Given the description of an element on the screen output the (x, y) to click on. 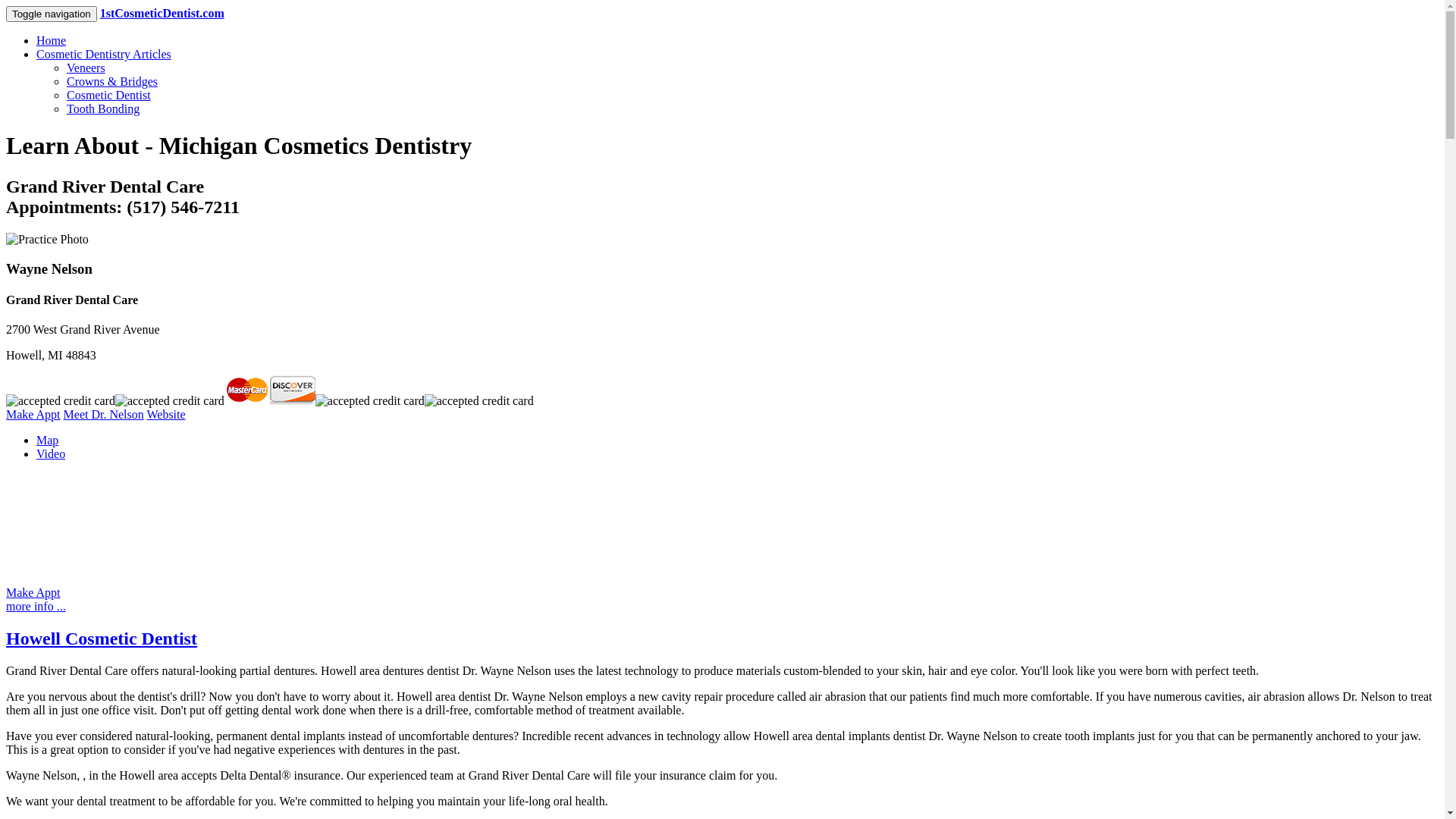
Make Appt Element type: text (33, 413)
Cosmetic Dentistry Articles Element type: text (103, 53)
my title Element type: hover (246, 389)
Toggle navigation Element type: text (51, 13)
Veneers Element type: text (85, 67)
Howell Cosmetic Dentist Element type: text (101, 638)
my title Element type: hover (292, 389)
Cosmetic Dentist Element type: text (108, 94)
Meet Dr. Nelson Element type: text (103, 413)
Make Appt Element type: text (33, 592)
my title Element type: hover (169, 400)
1stCosmeticDentist.com Element type: text (162, 12)
Home Element type: text (50, 40)
Map Element type: text (47, 439)
Website Element type: text (165, 413)
Tooth Bonding Element type: text (102, 108)
Video Element type: text (50, 453)
Crowns & Bridges Element type: text (111, 81)
my title Element type: hover (369, 400)
my title Element type: hover (60, 400)
my title Element type: hover (478, 400)
more info ... Element type: text (35, 605)
